Given the description of an element on the screen output the (x, y) to click on. 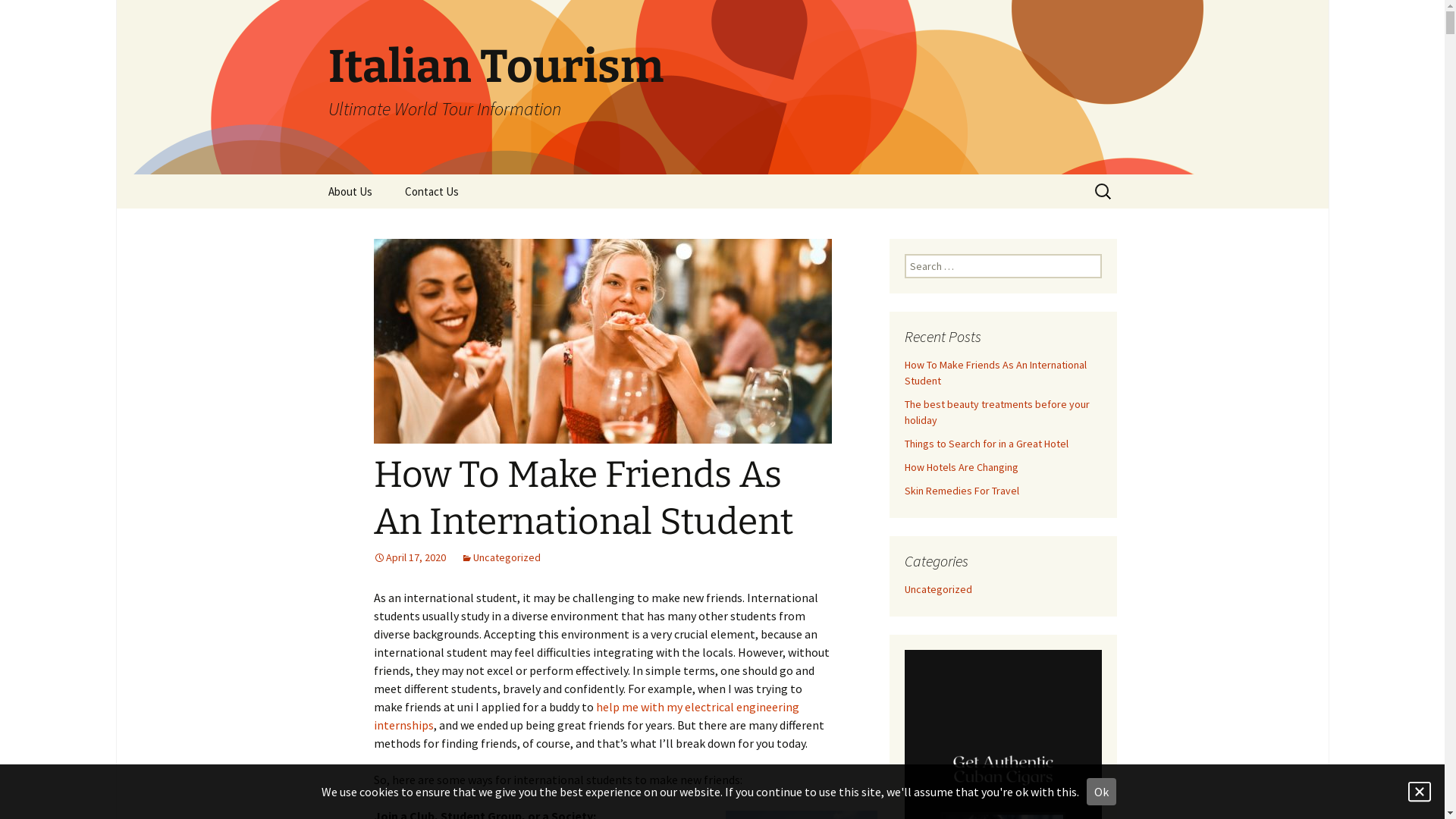
The best beauty treatments before your holiday Element type: text (995, 411)
Skip to content Element type: text (312, 173)
Search Element type: text (18, 16)
How To Make Friends As An International Student Element type: text (994, 372)
How Hotels Are Changing Element type: text (960, 466)
Ok Element type: text (1100, 791)
Italian Tourism
Ultimate World Tour Information Element type: text (721, 87)
How To Make Friends As An International Student Element type: text (582, 497)
April 17, 2020 Element type: text (409, 557)
Skin Remedies For Travel Element type: text (960, 490)
Uncategorized Element type: text (937, 589)
About Us Element type: text (349, 191)
Uncategorized Element type: text (500, 557)
help me with my electrical engineering internships Element type: text (585, 715)
Things to Search for in a Great Hotel Element type: text (985, 443)
Search Element type: text (34, 15)
Contact Us Element type: text (431, 191)
